Given the description of an element on the screen output the (x, y) to click on. 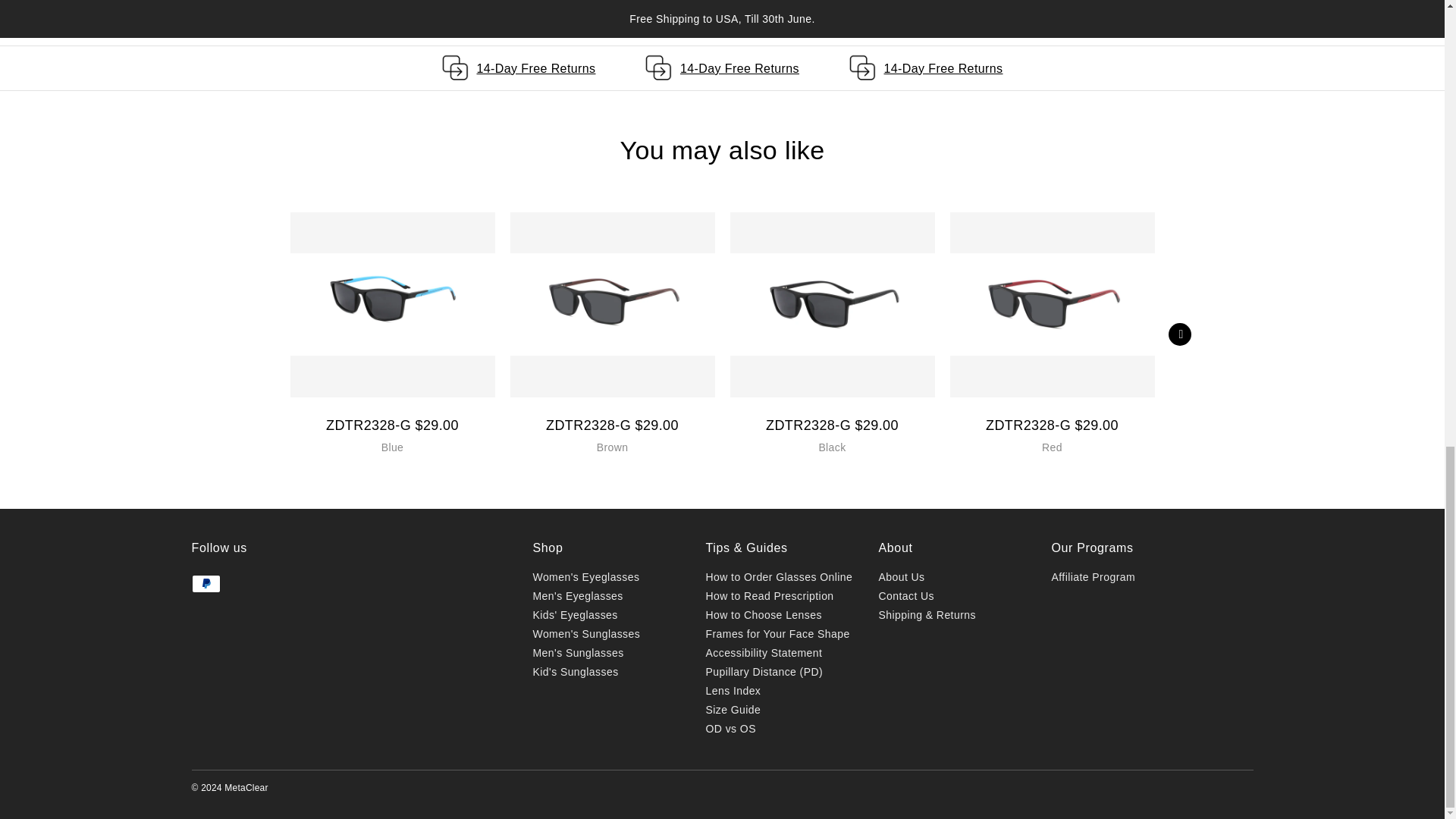
PayPal (204, 583)
ZDTR2328-G--Blue (392, 305)
